Given the description of an element on the screen output the (x, y) to click on. 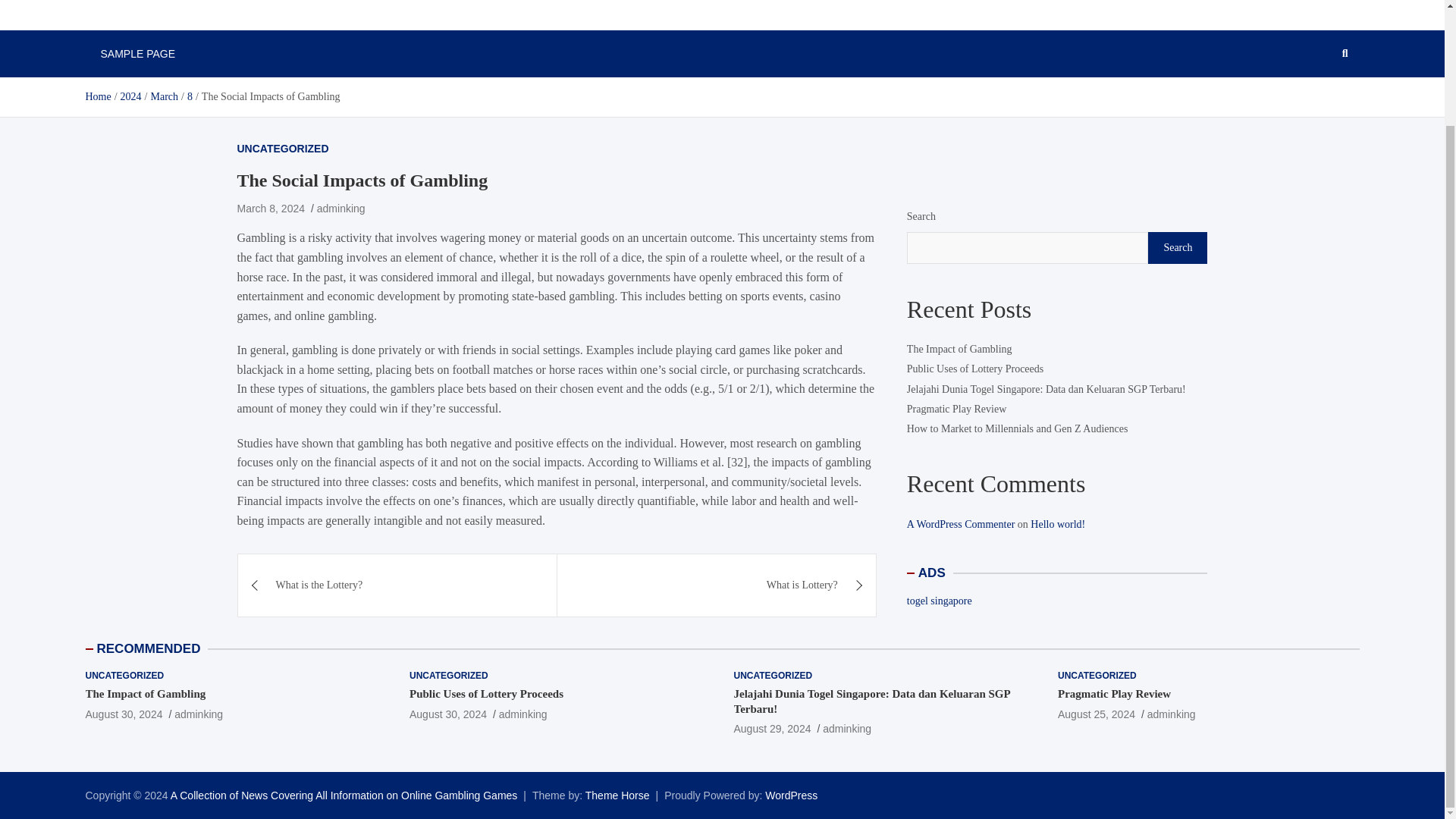
WordPress (790, 795)
adminking (341, 208)
August 30, 2024 (447, 714)
SAMPLE PAGE (137, 53)
Theme Horse (617, 795)
Pragmatic Play Review (1114, 693)
UNCATEGORIZED (123, 676)
The Impact of Gambling (144, 693)
